Given the description of an element on the screen output the (x, y) to click on. 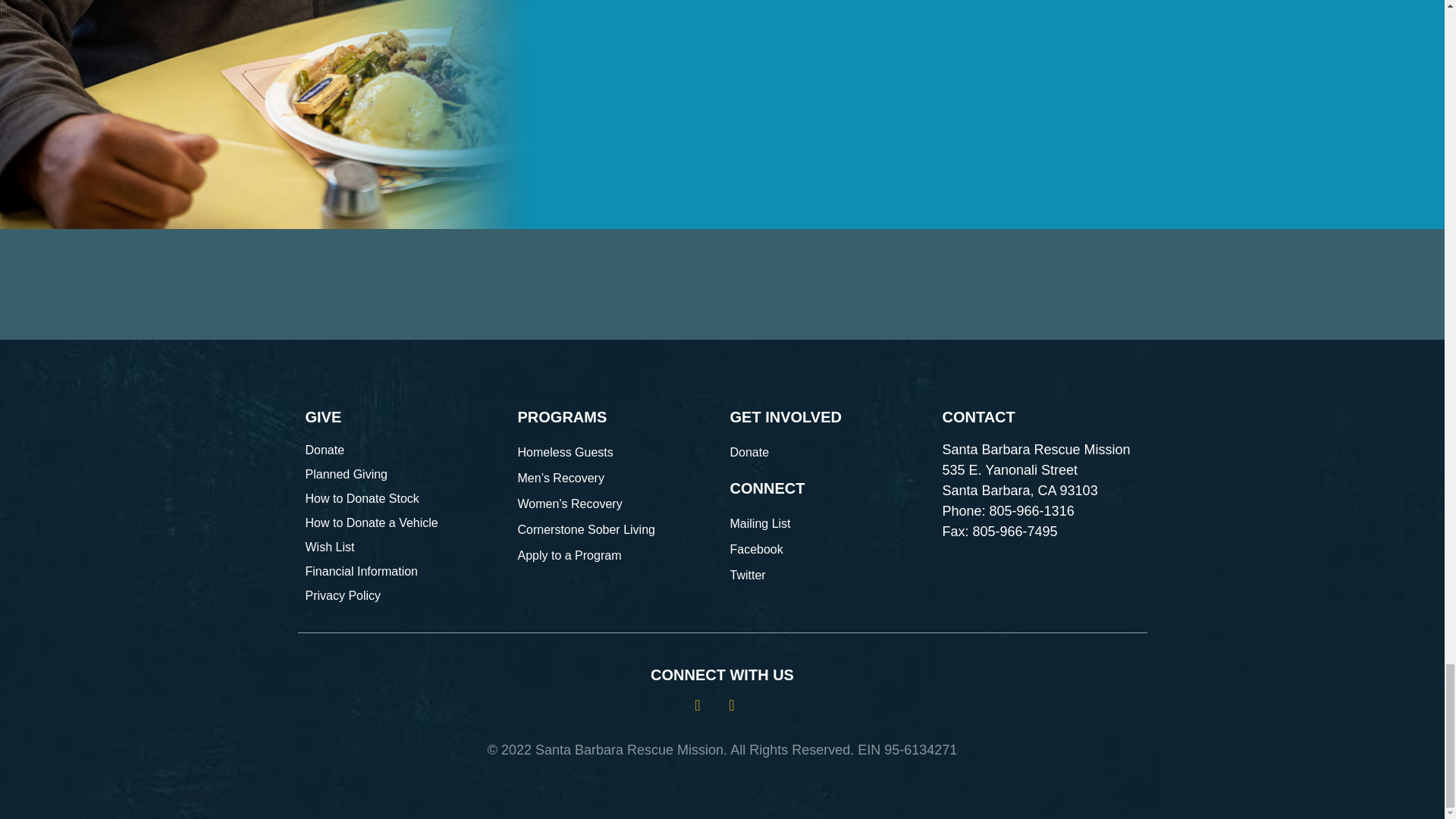
Financial Information (403, 571)
Apply to a Program (615, 555)
Donate (827, 452)
Mailing List (827, 524)
Privacy Policy (403, 595)
Cornerstone Sober Living (615, 529)
Homeless Guests (615, 452)
Facebook (827, 549)
How to Donate Stock (403, 498)
How to Donate a Vehicle (403, 522)
